Given the description of an element on the screen output the (x, y) to click on. 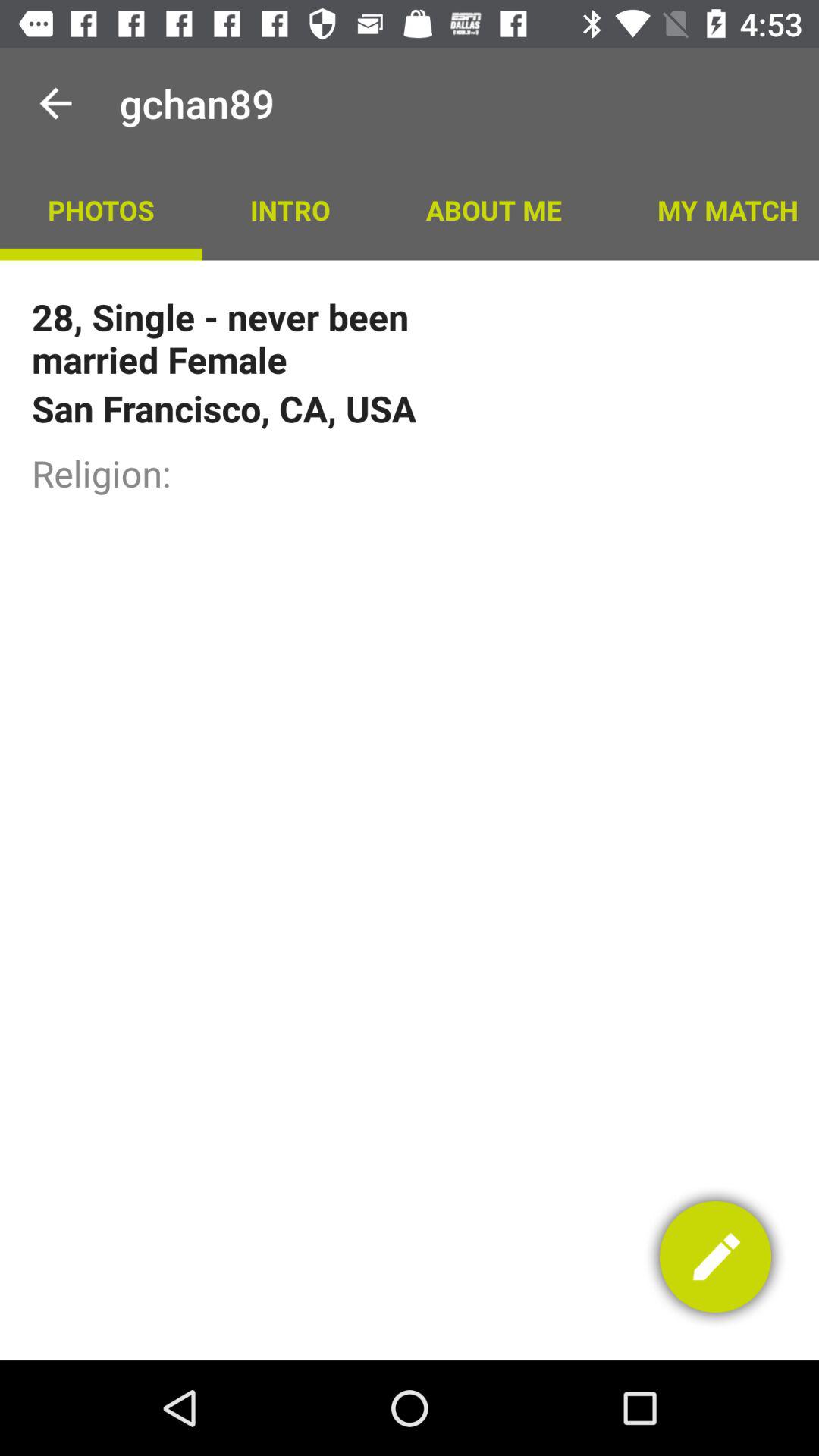
tap the icon to the left of the intro app (101, 209)
